Given the description of an element on the screen output the (x, y) to click on. 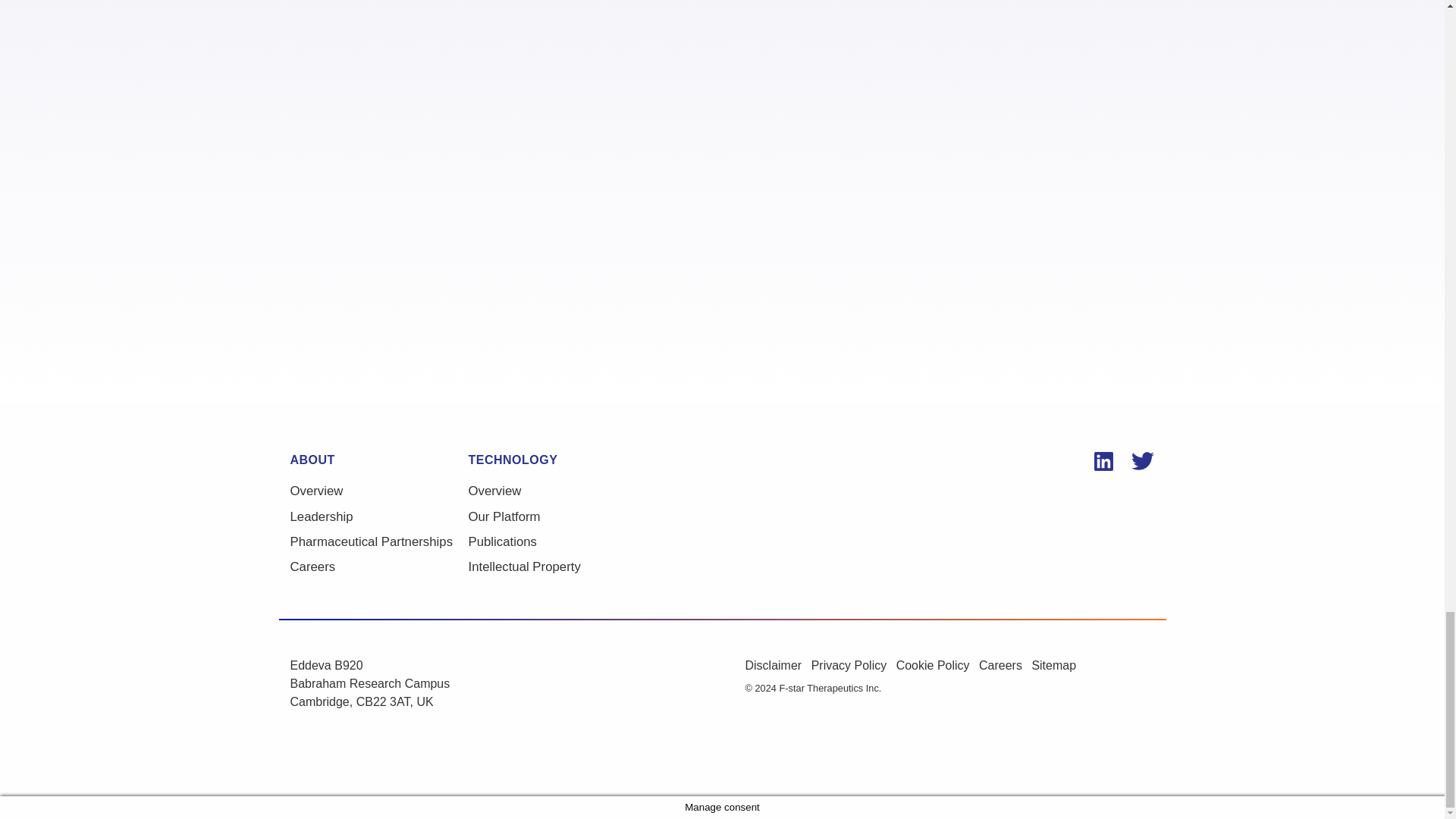
Overview (556, 490)
Disclaimer (777, 671)
Intellectual Property (556, 566)
Leadership (378, 516)
Privacy Policy (853, 671)
Our Platform (556, 516)
Careers (378, 566)
Publications (556, 541)
Overview (378, 490)
Pharmaceutical Partnerships (378, 541)
